Given the description of an element on the screen output the (x, y) to click on. 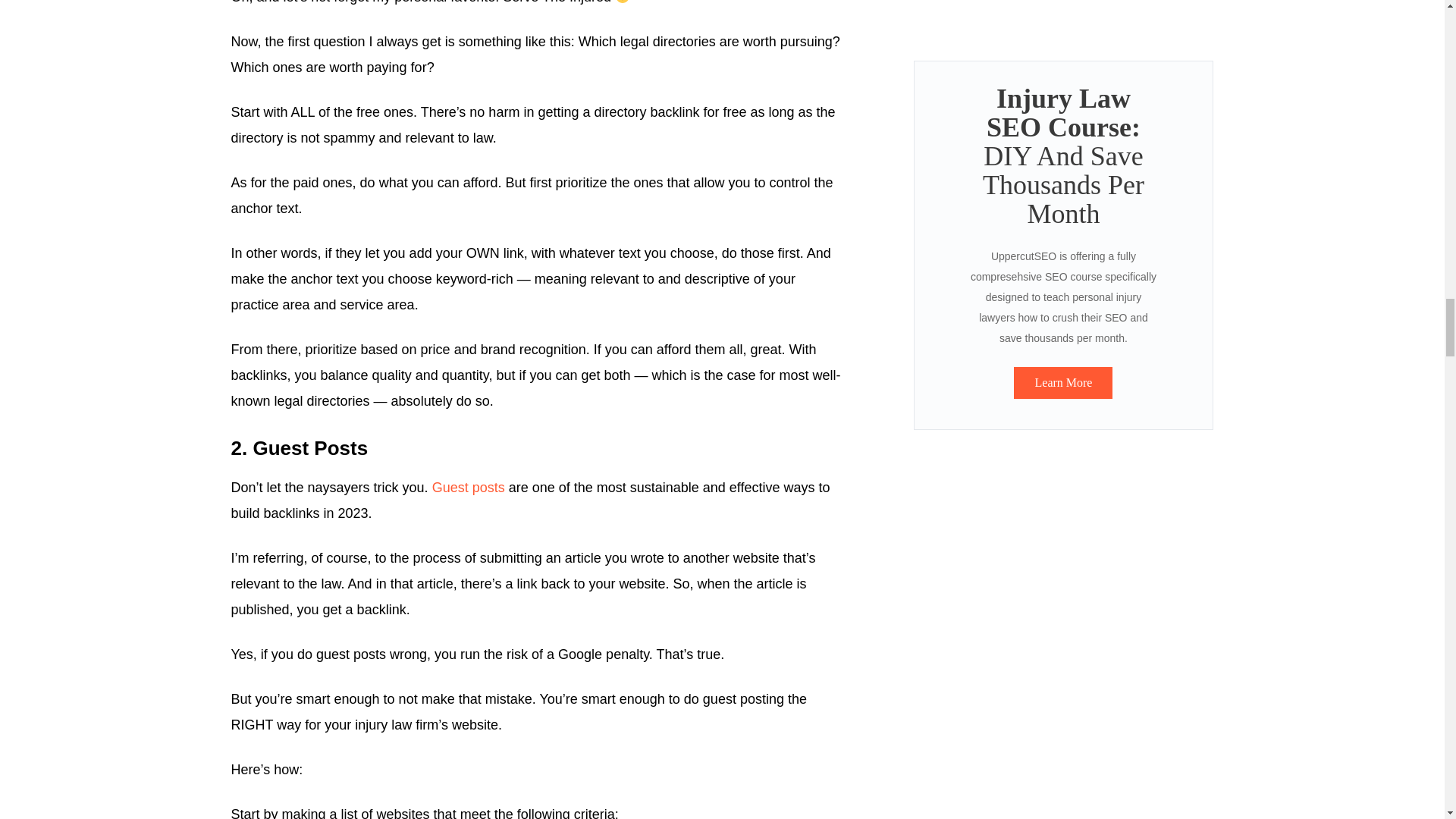
Guest posts (468, 487)
